Given the description of an element on the screen output the (x, y) to click on. 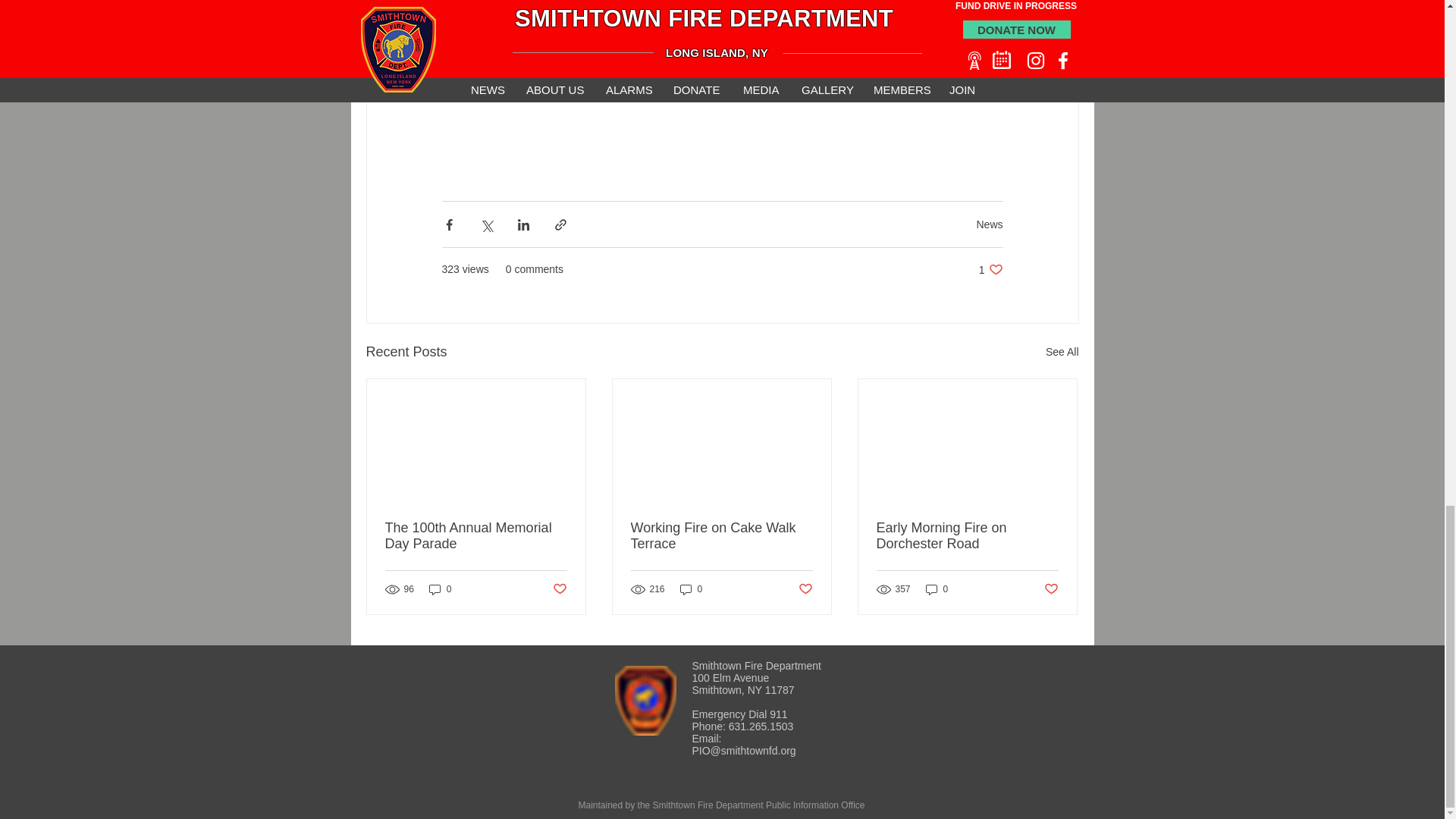
Post not marked as liked (558, 589)
News (989, 224)
0 (990, 269)
See All (440, 589)
The 100th Annual Memorial Day Parade (1061, 352)
